Given the description of an element on the screen output the (x, y) to click on. 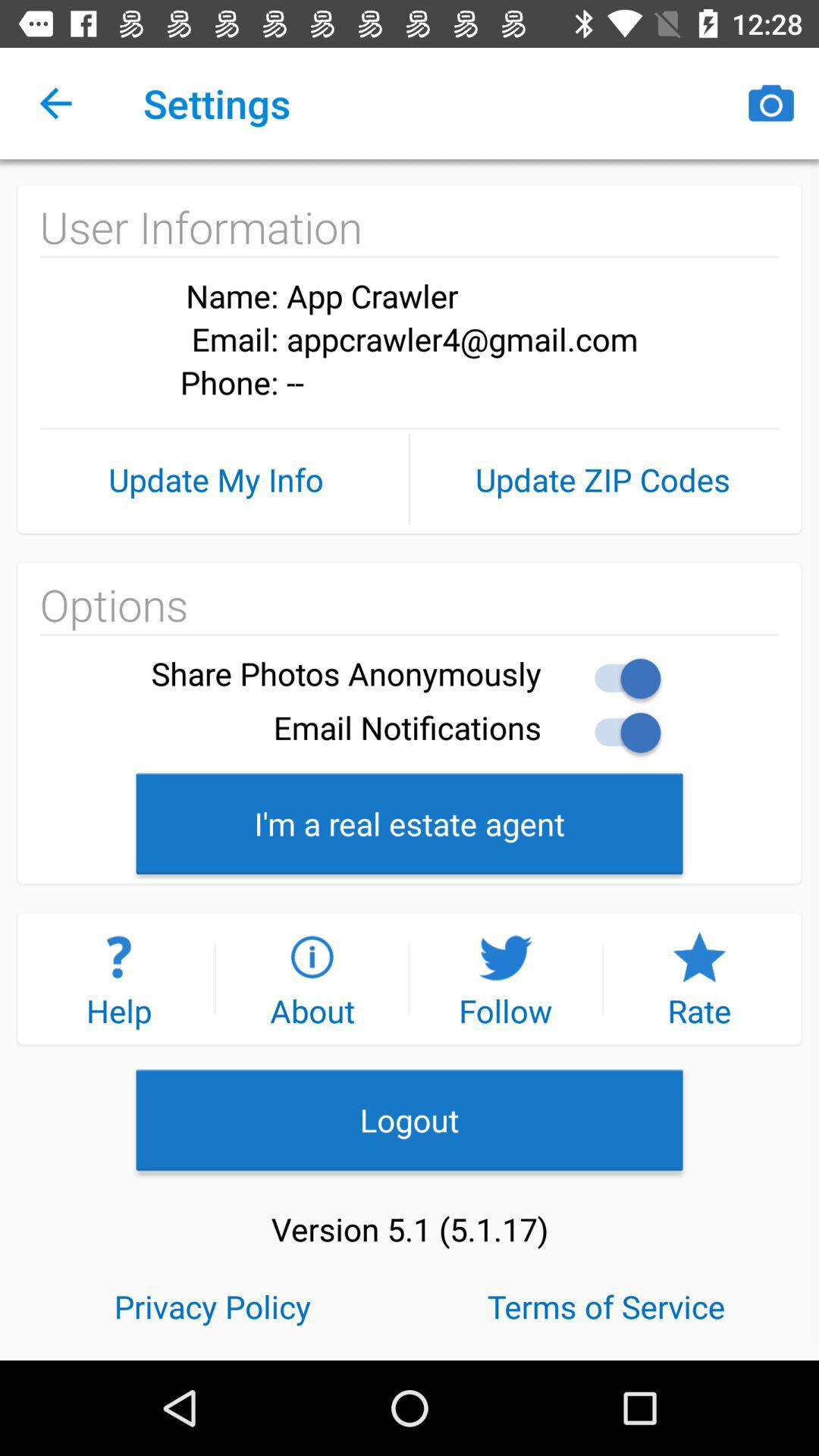
tap item above logout (118, 978)
